Given the description of an element on the screen output the (x, y) to click on. 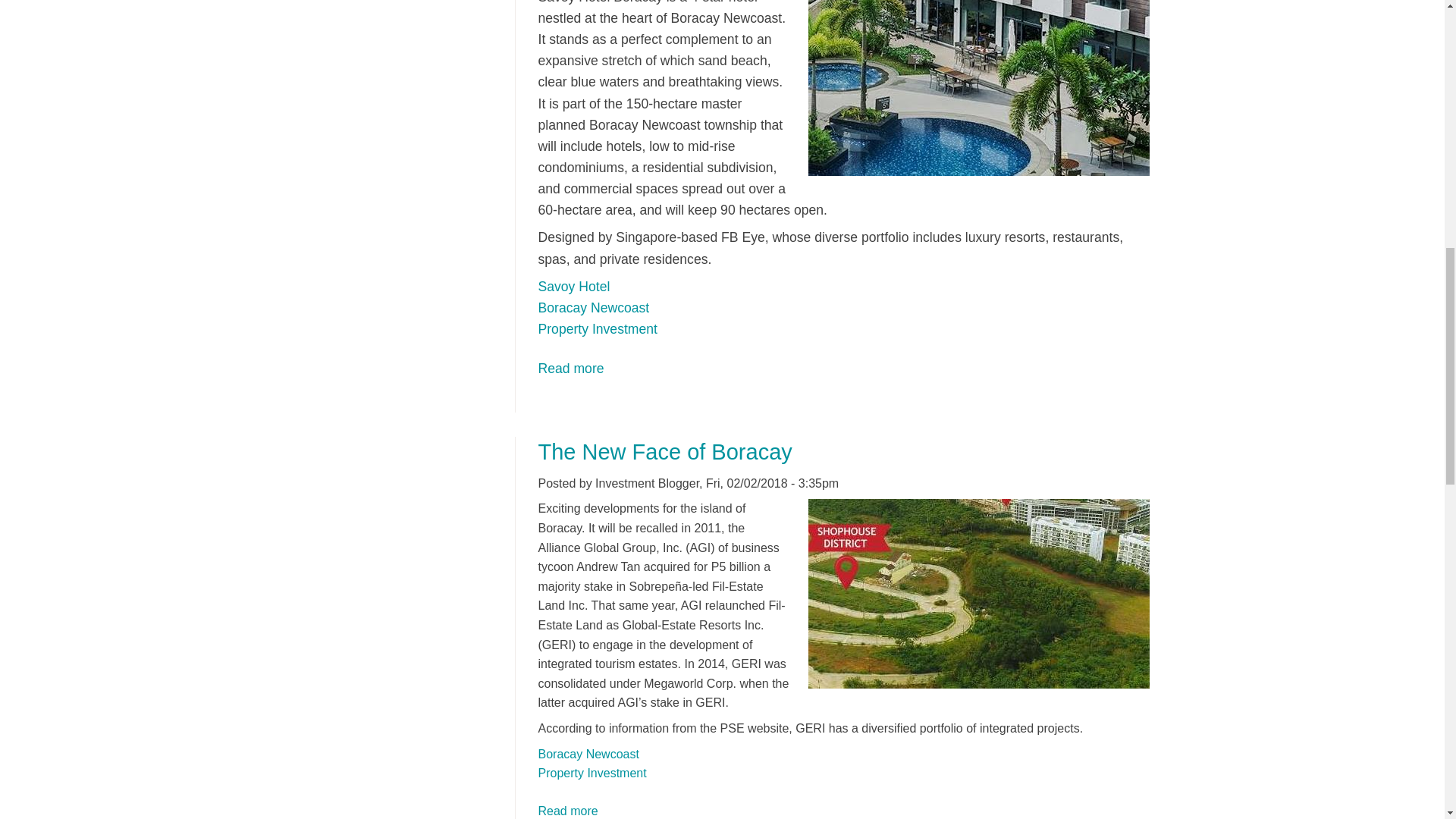
Boracay Newcoast (588, 753)
The New Face of Boracay (665, 451)
The New Face of Boracay (568, 810)
Savoy Hotel (574, 286)
Boracay Newcoast (593, 307)
Savoy Hotel Boracay: The Newest Beach Destination  (568, 810)
Property Investment (571, 368)
Property Investment (592, 772)
